Given the description of an element on the screen output the (x, y) to click on. 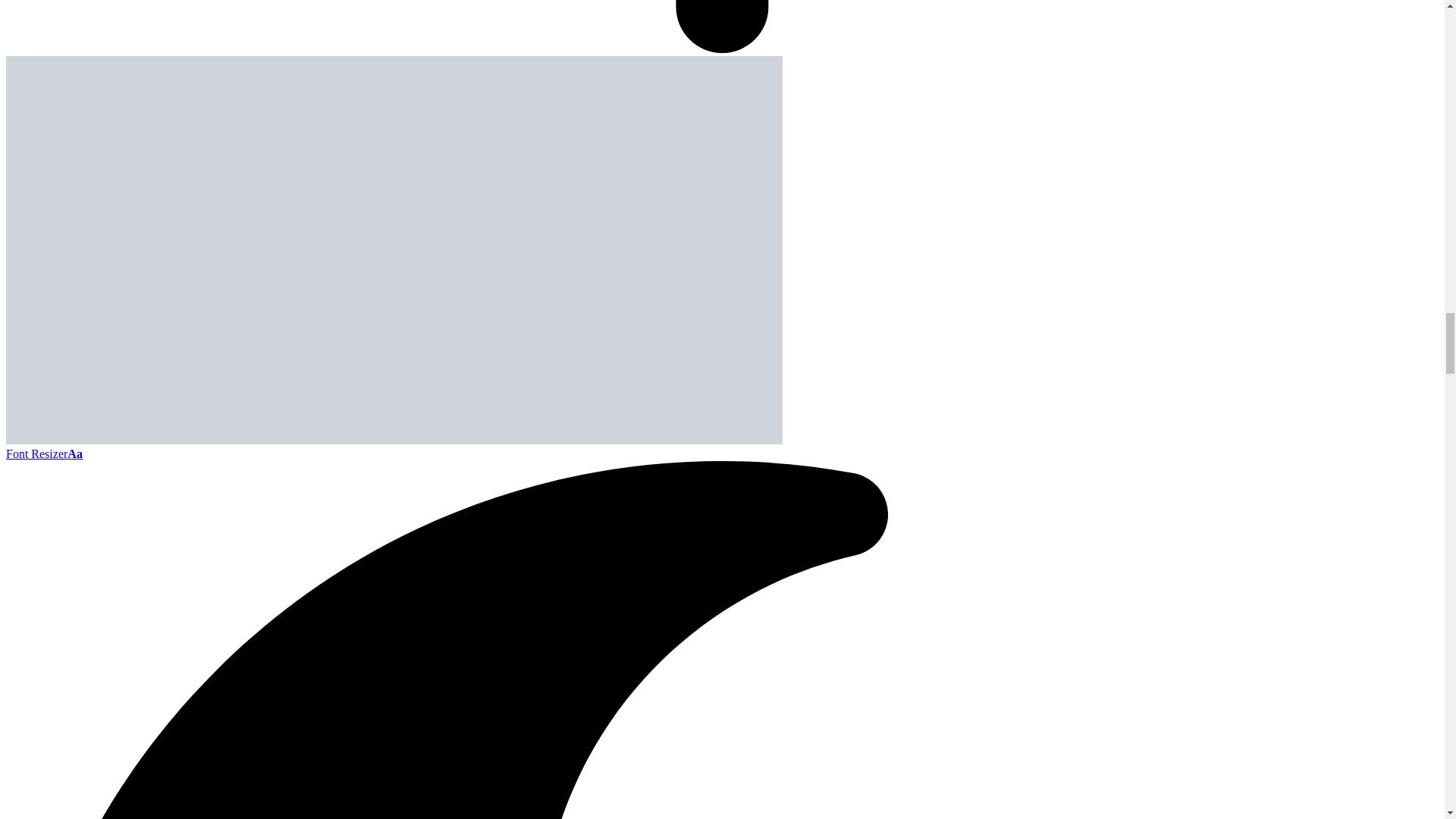
Font ResizerAa (43, 453)
SmartData Collective (394, 440)
